Given the description of an element on the screen output the (x, y) to click on. 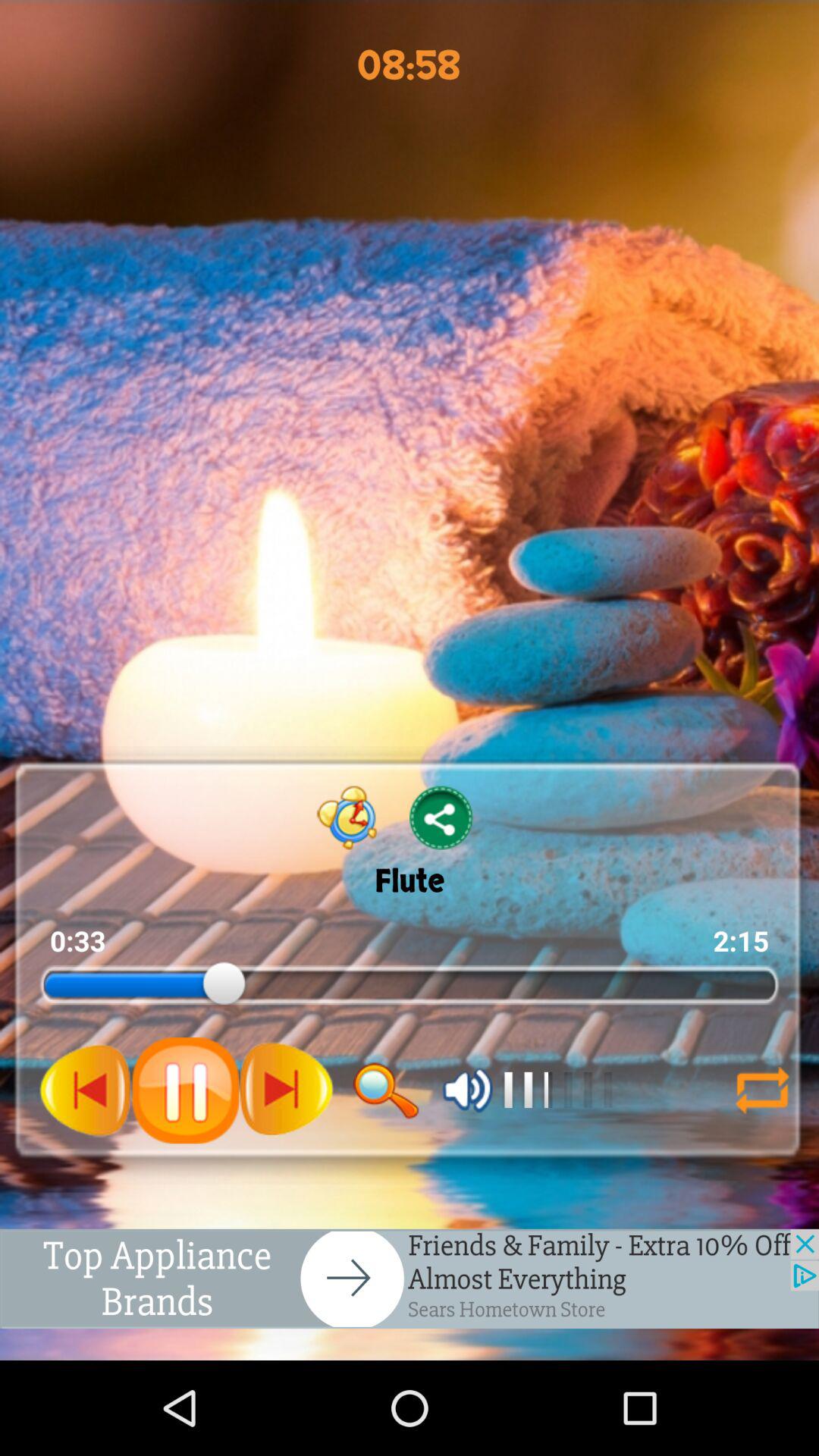
rewind (85, 1090)
